Given the description of an element on the screen output the (x, y) to click on. 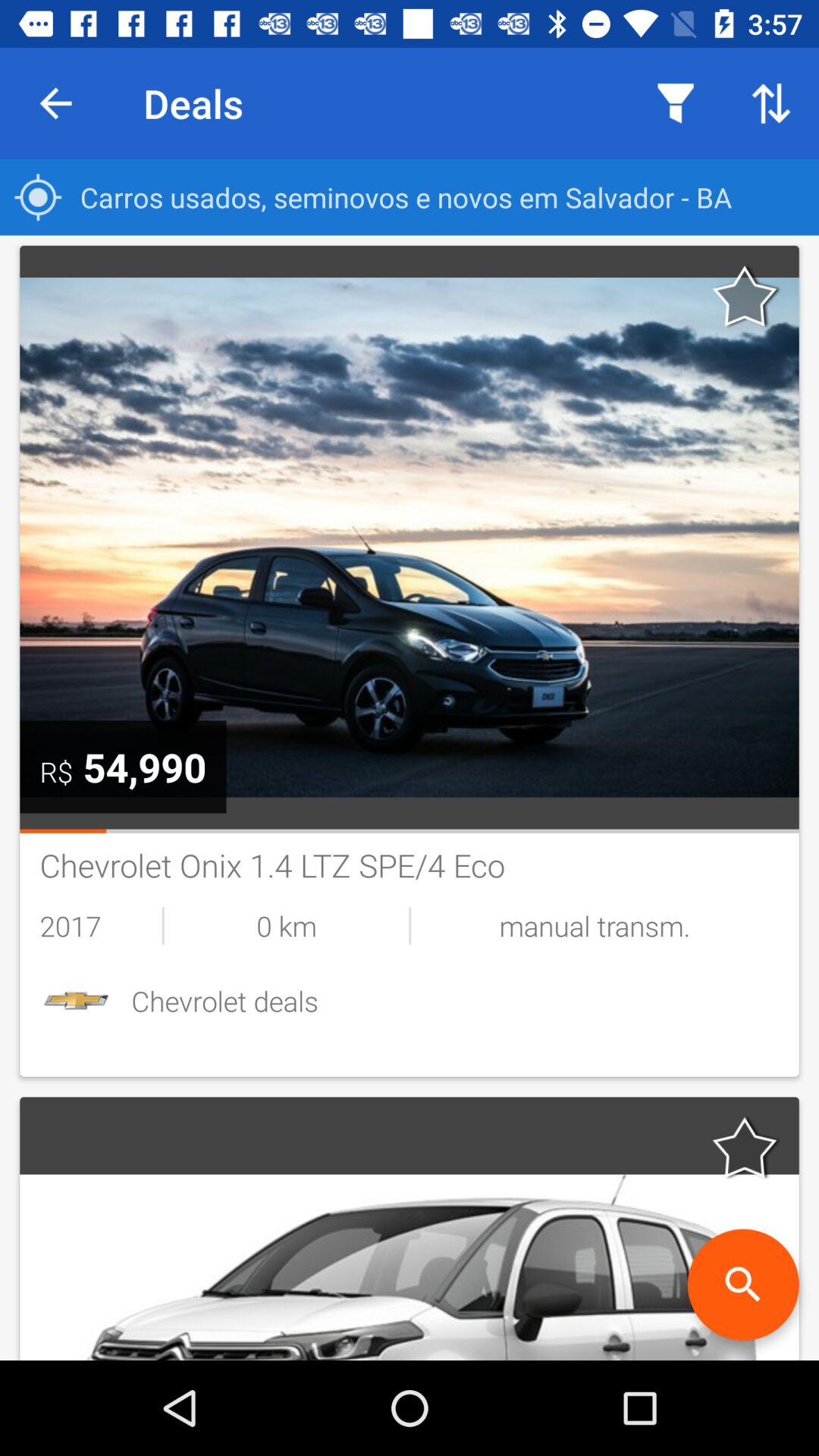
favorite option (745, 1147)
